Given the description of an element on the screen output the (x, y) to click on. 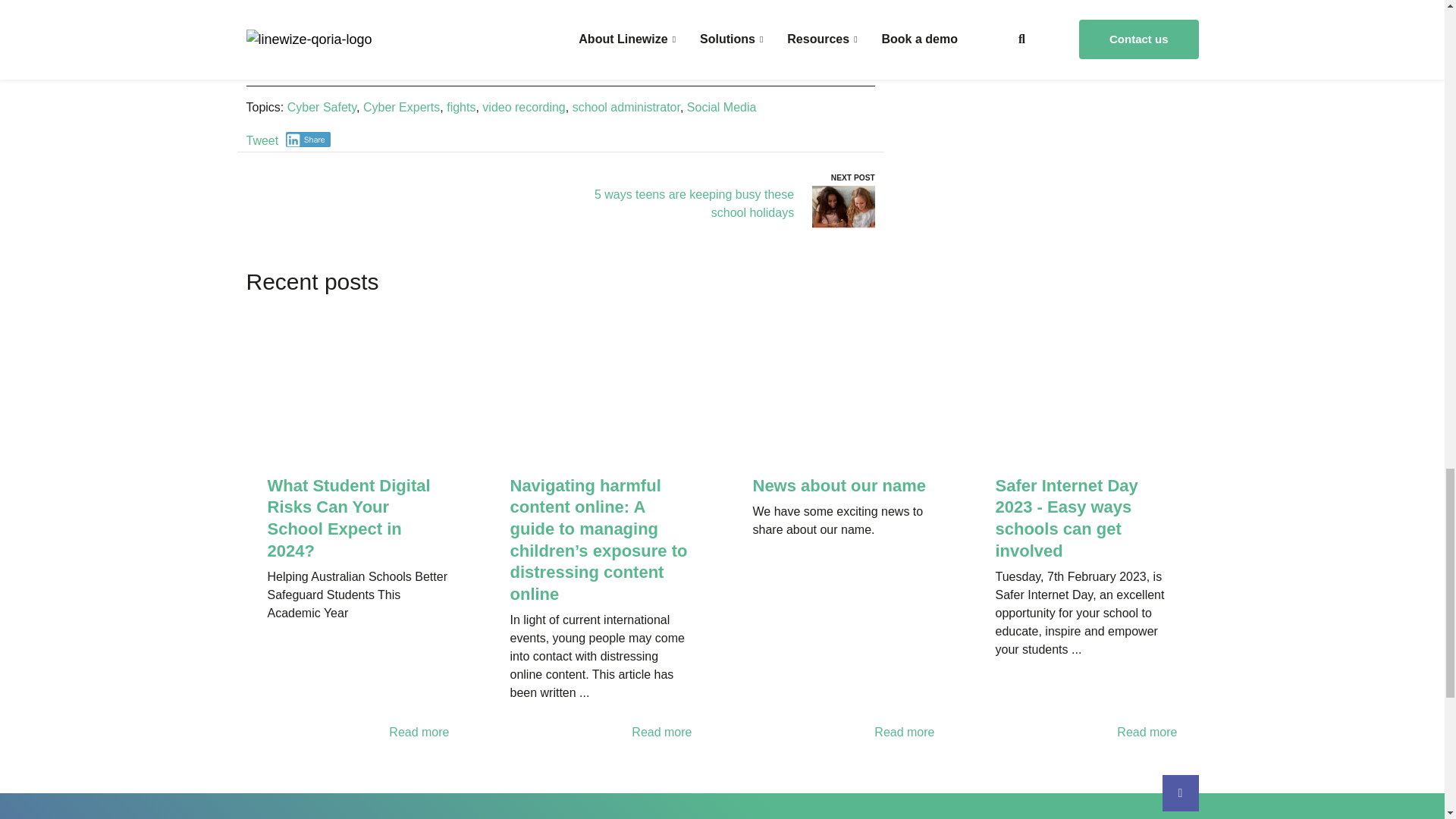
video recording (522, 106)
school administrator (625, 106)
fights (461, 106)
Social Media (722, 106)
Cyber Experts (400, 106)
Cyber Safety (321, 106)
5 ways teens are keeping busy these school holidays (693, 203)
Share (307, 139)
Tweet (262, 140)
